Given the description of an element on the screen output the (x, y) to click on. 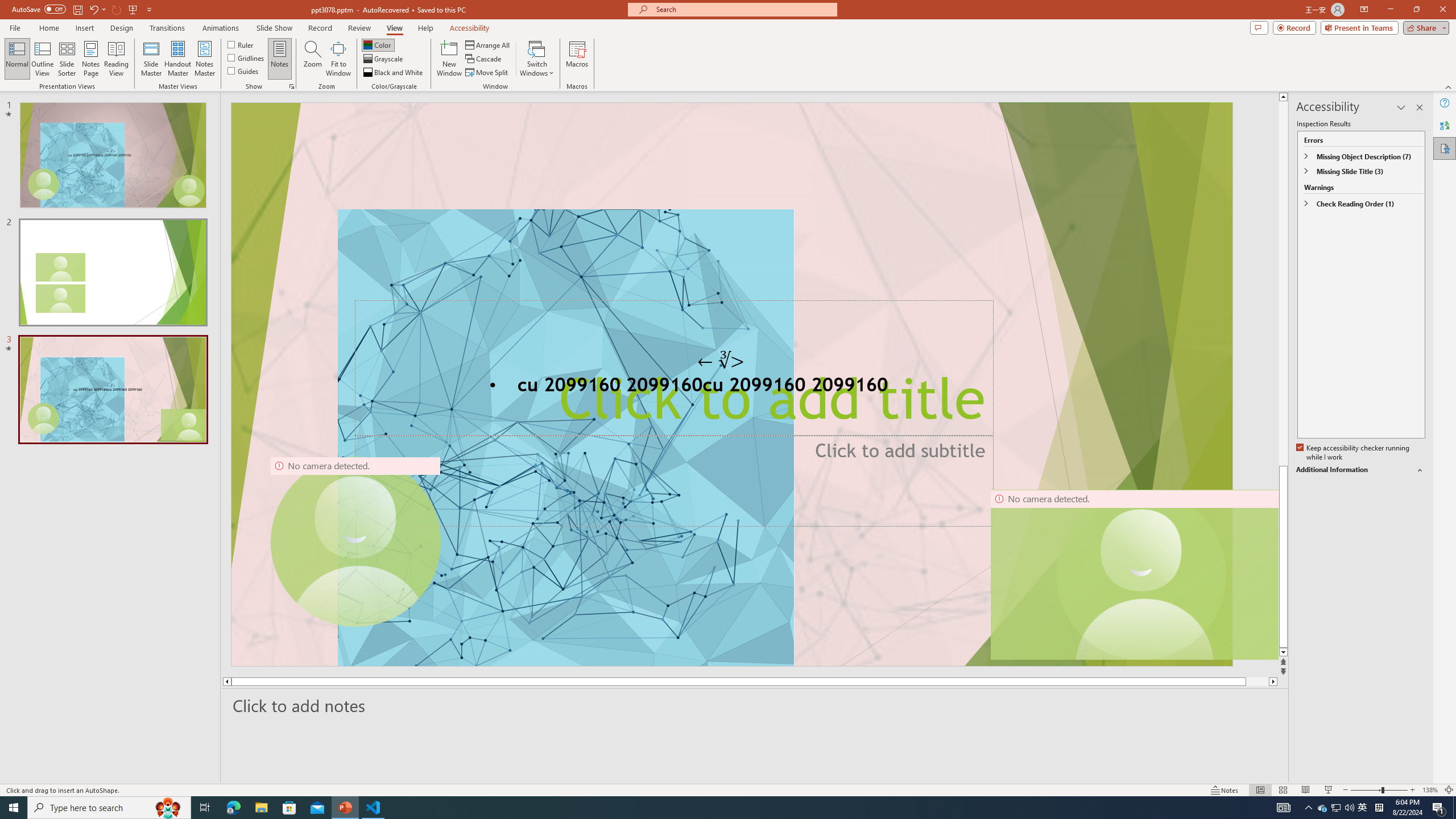
Arrange All (488, 44)
TextBox 7 (720, 360)
New Window (449, 58)
Slide Master (151, 58)
Cascade (484, 58)
